Given the description of an element on the screen output the (x, y) to click on. 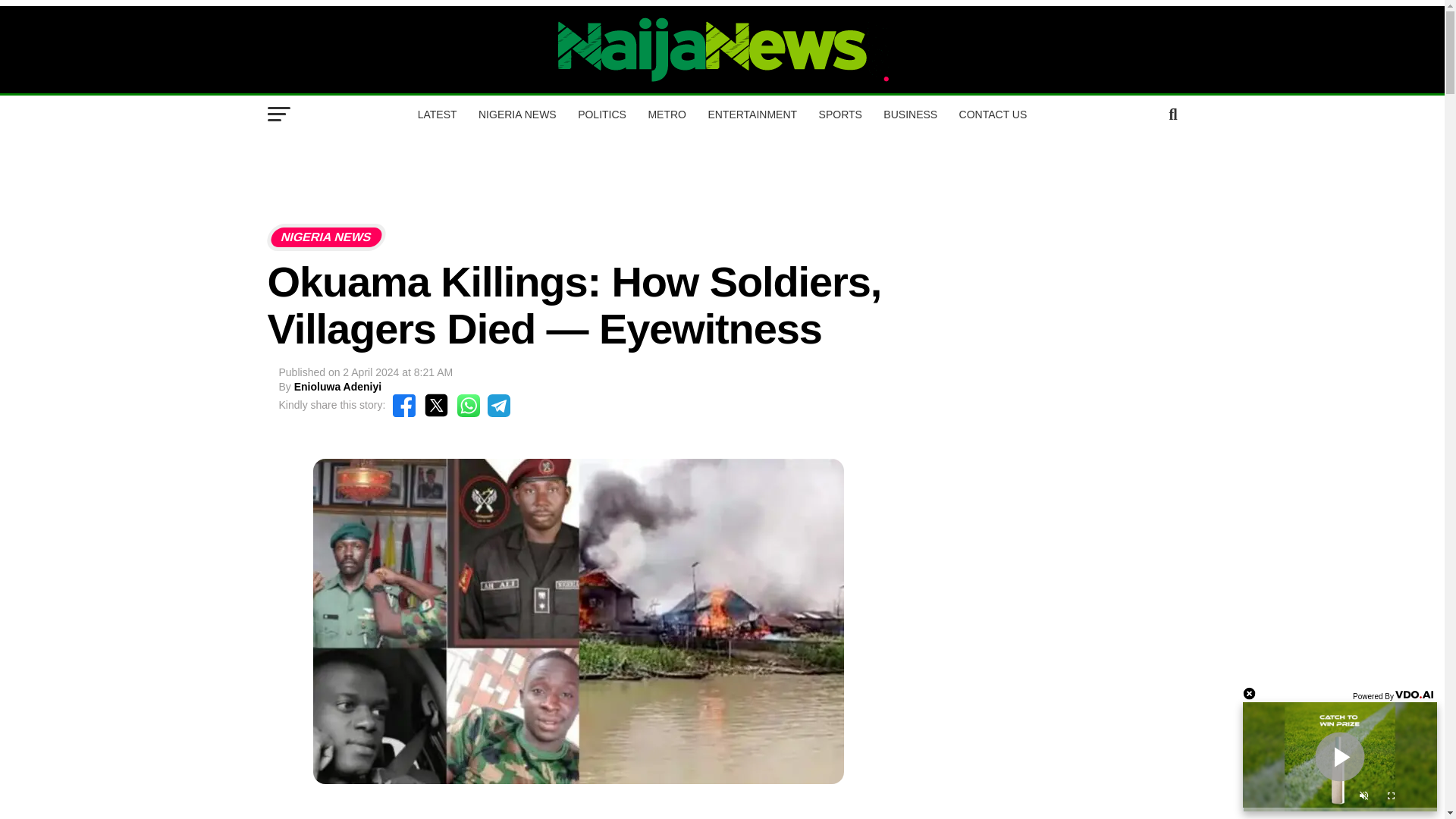
LATEST (437, 114)
BUSINESS (910, 114)
Play (1339, 757)
Unmute (1363, 797)
CONTACT US (993, 114)
Posts by Enioluwa Adeniyi (337, 386)
Fullscreen (1390, 797)
SPORTS (839, 114)
POLITICS (601, 114)
METRO (667, 114)
Unmute (1363, 797)
Play (1339, 757)
Enioluwa Adeniyi (337, 386)
NIGERIA NEWS (517, 114)
Fullscreen (1390, 797)
